Given the description of an element on the screen output the (x, y) to click on. 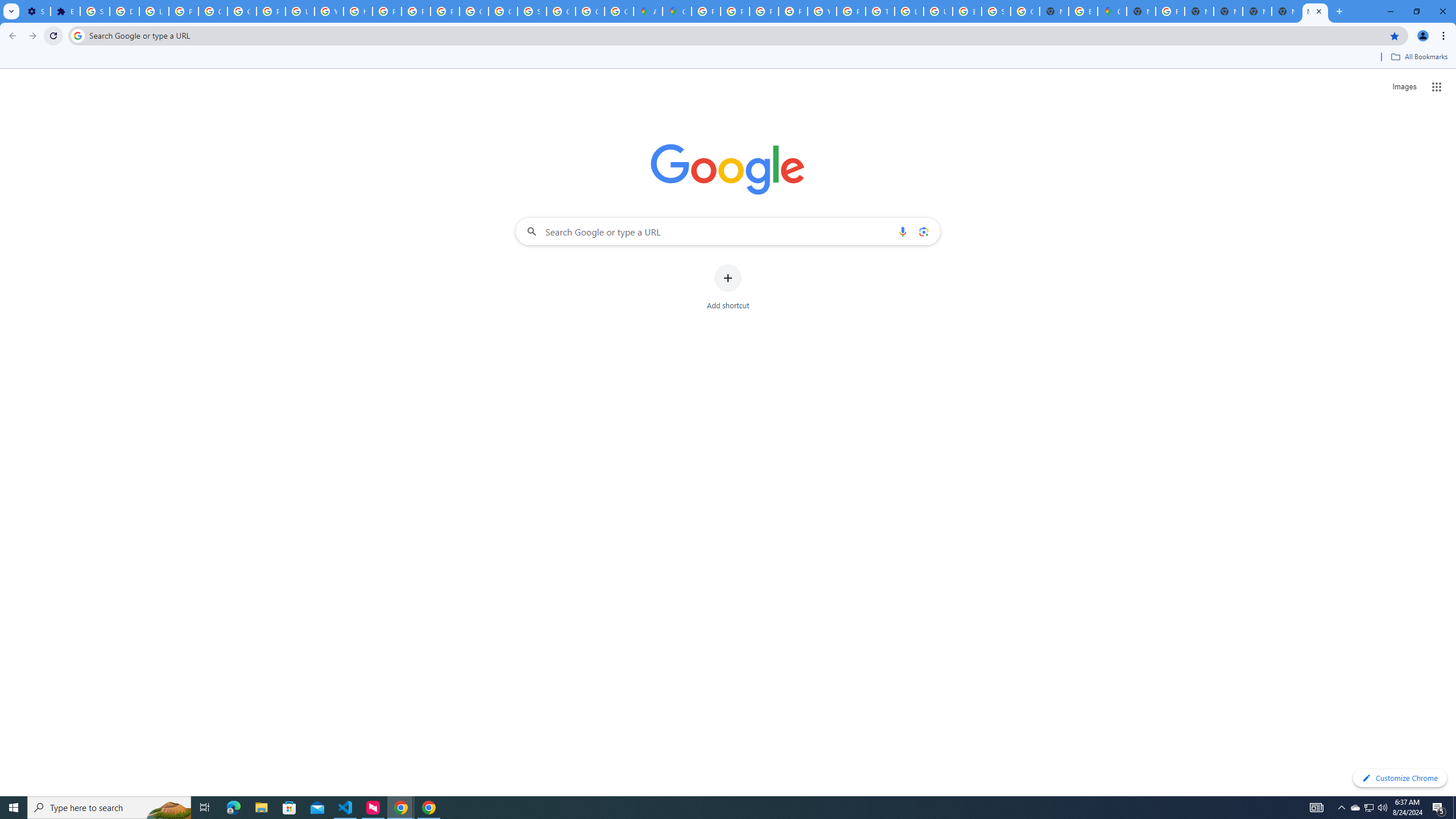
Google Account Help (242, 11)
Google Maps (1111, 11)
Search by image (922, 230)
All Bookmarks (1418, 56)
Settings - On startup (35, 11)
New Tab (1140, 11)
Privacy Help Center - Policies Help (386, 11)
Privacy Help Center - Policies Help (763, 11)
Create your Google Account (619, 11)
